Given the description of an element on the screen output the (x, y) to click on. 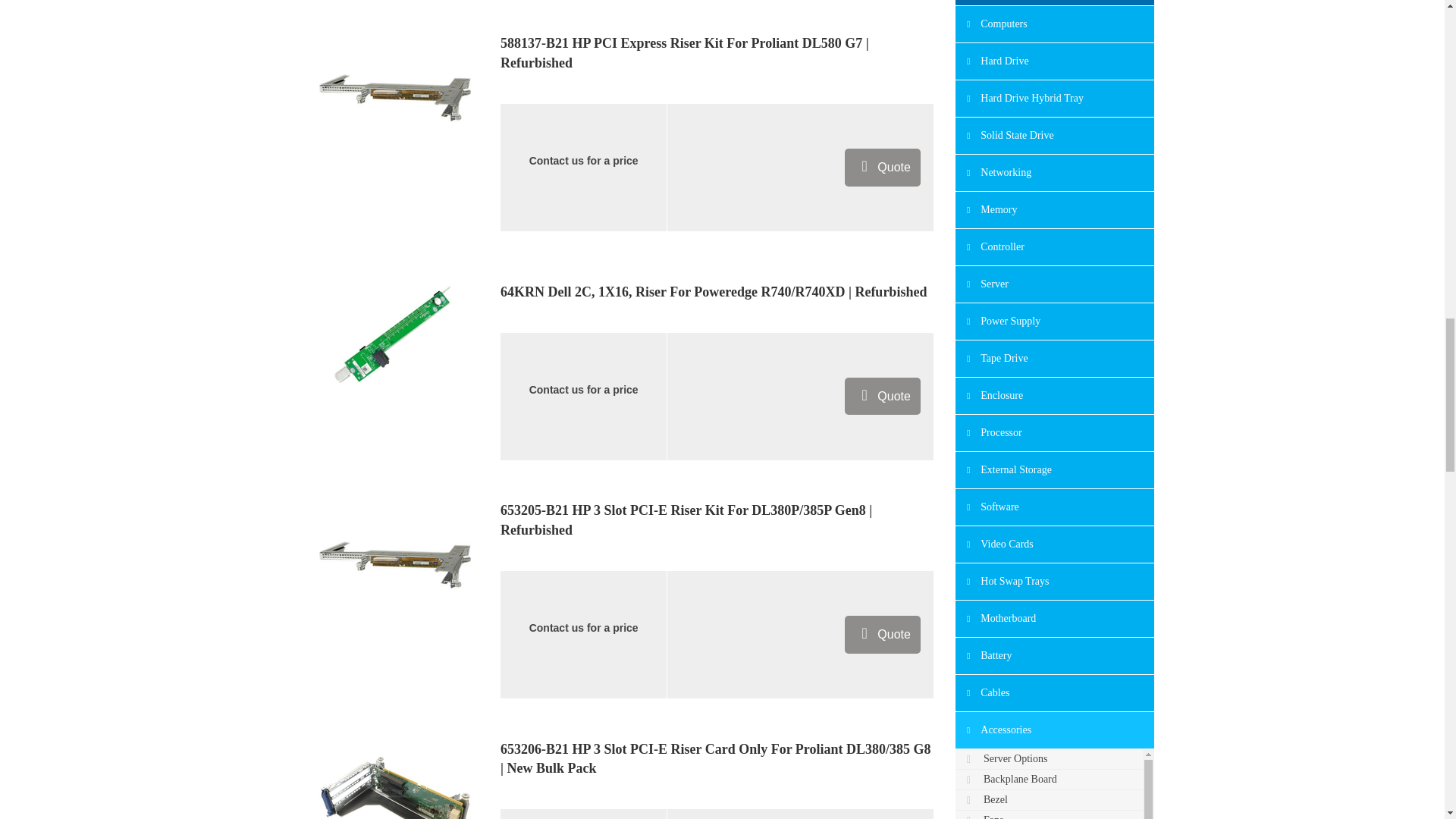
HP 588137-B21 Riser Kit (394, 97)
HP 653205-B21 Riser Kit (394, 563)
Dell 64KRN Riser Card Accessories Poweredge (394, 335)
